Given the description of an element on the screen output the (x, y) to click on. 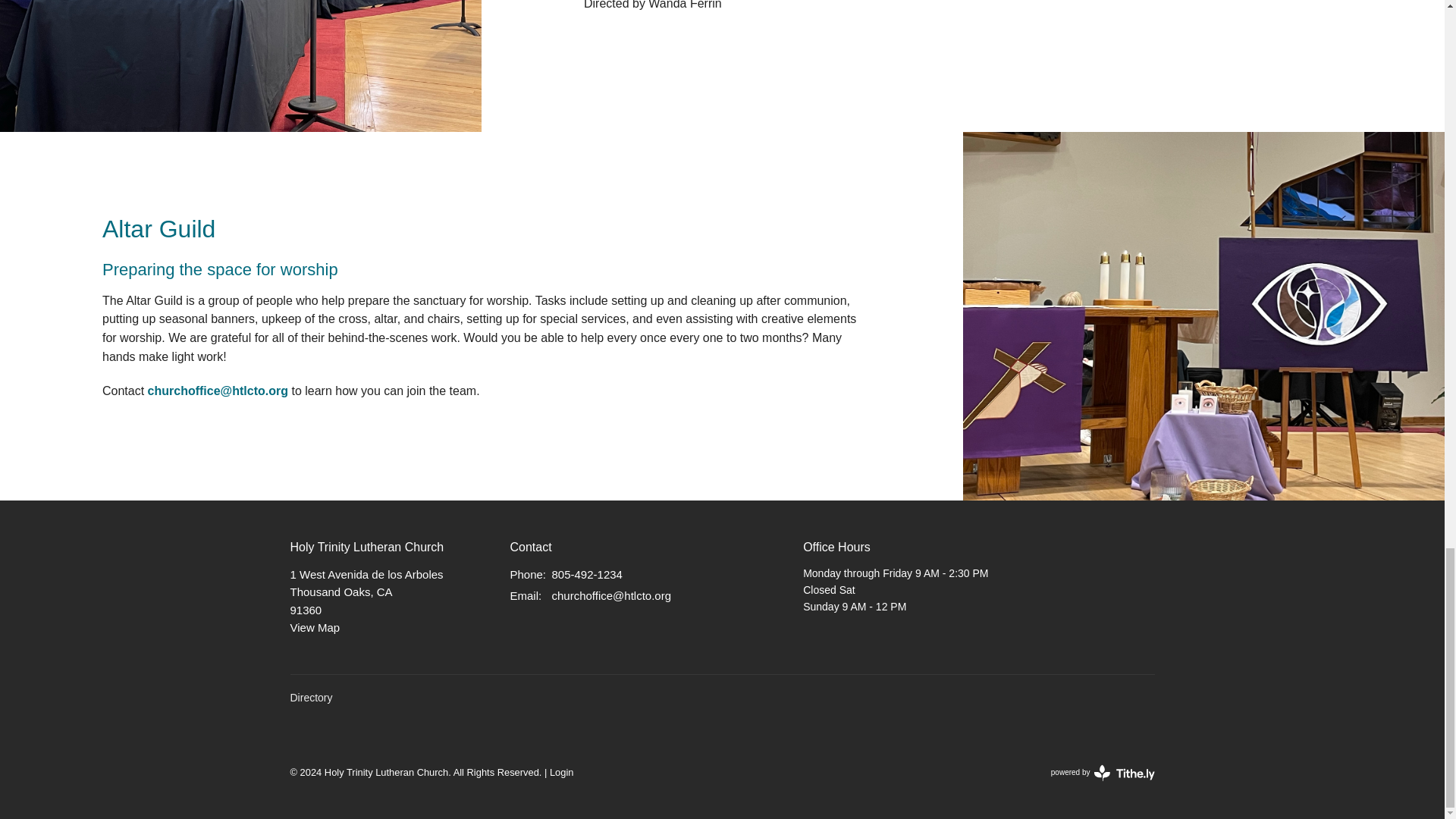
805-492-1234 (587, 574)
Login (561, 772)
View Map (1102, 772)
translation missing: en.ui.email (314, 626)
Directory (523, 594)
